Given the description of an element on the screen output the (x, y) to click on. 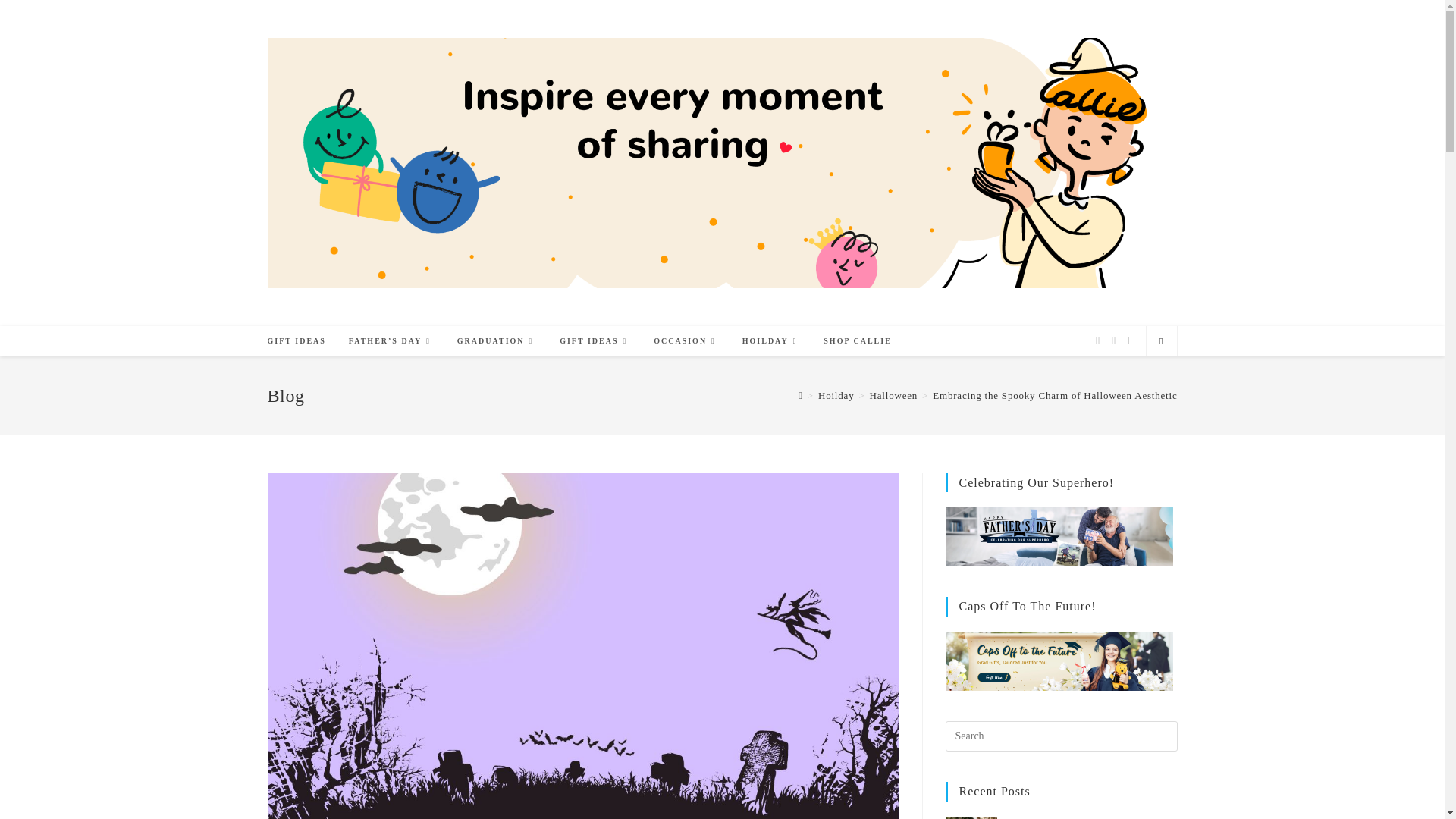
GIFT IDEAS (296, 340)
HOILDAY (771, 340)
24 Wedding Favors to Consider For Your Special Guests (969, 817)
SHOP CALLIE (857, 340)
OCCASION (686, 340)
GRADUATION (496, 340)
GIFT IDEAS (595, 340)
